Given the description of an element on the screen output the (x, y) to click on. 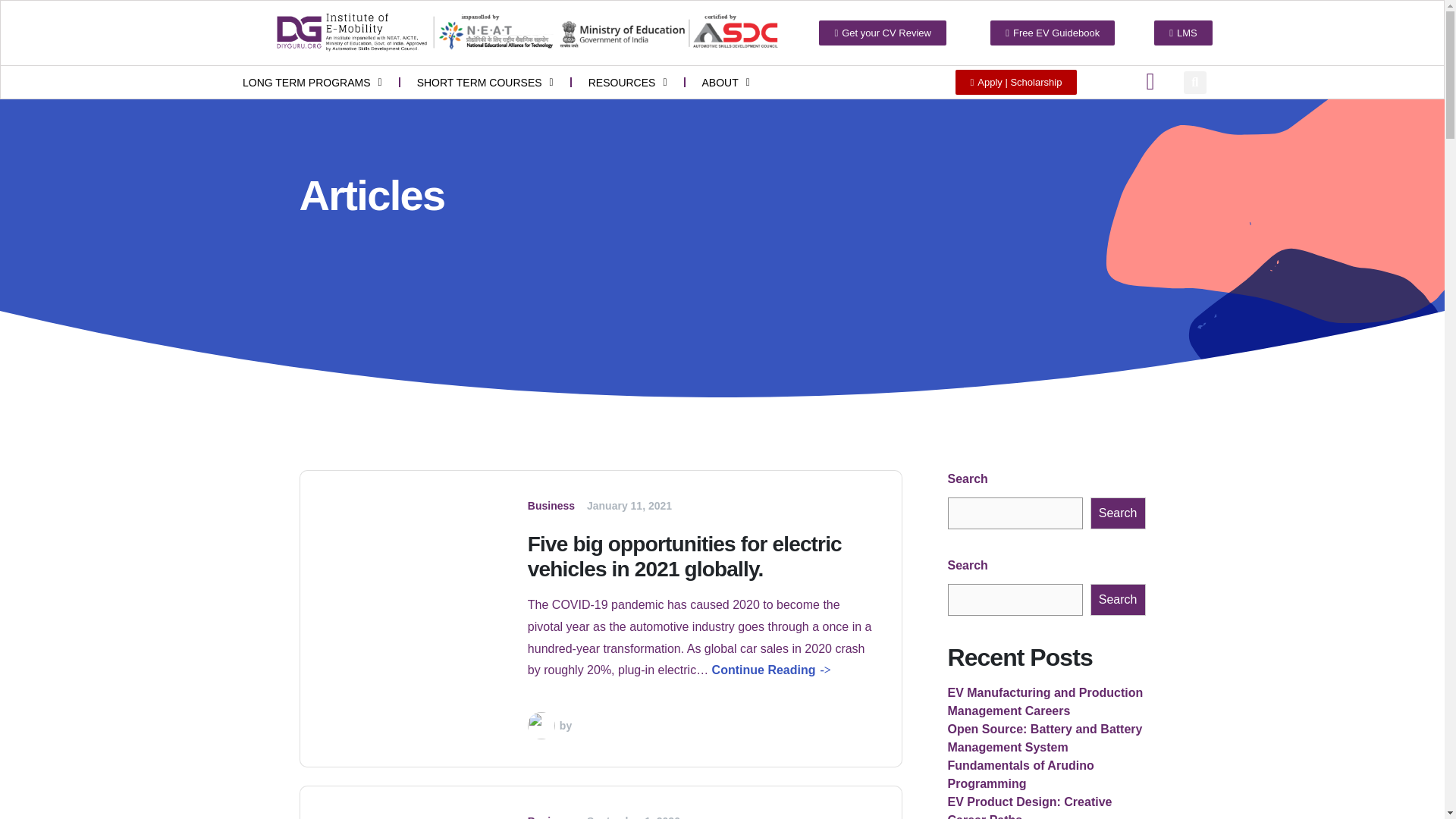
Free EV Guidebook (1052, 32)
LONG TERM PROGRAMS (311, 81)
LMS (1182, 32)
Get your CV Review (882, 32)
SHORT TERM COURSES (485, 81)
